Given the description of an element on the screen output the (x, y) to click on. 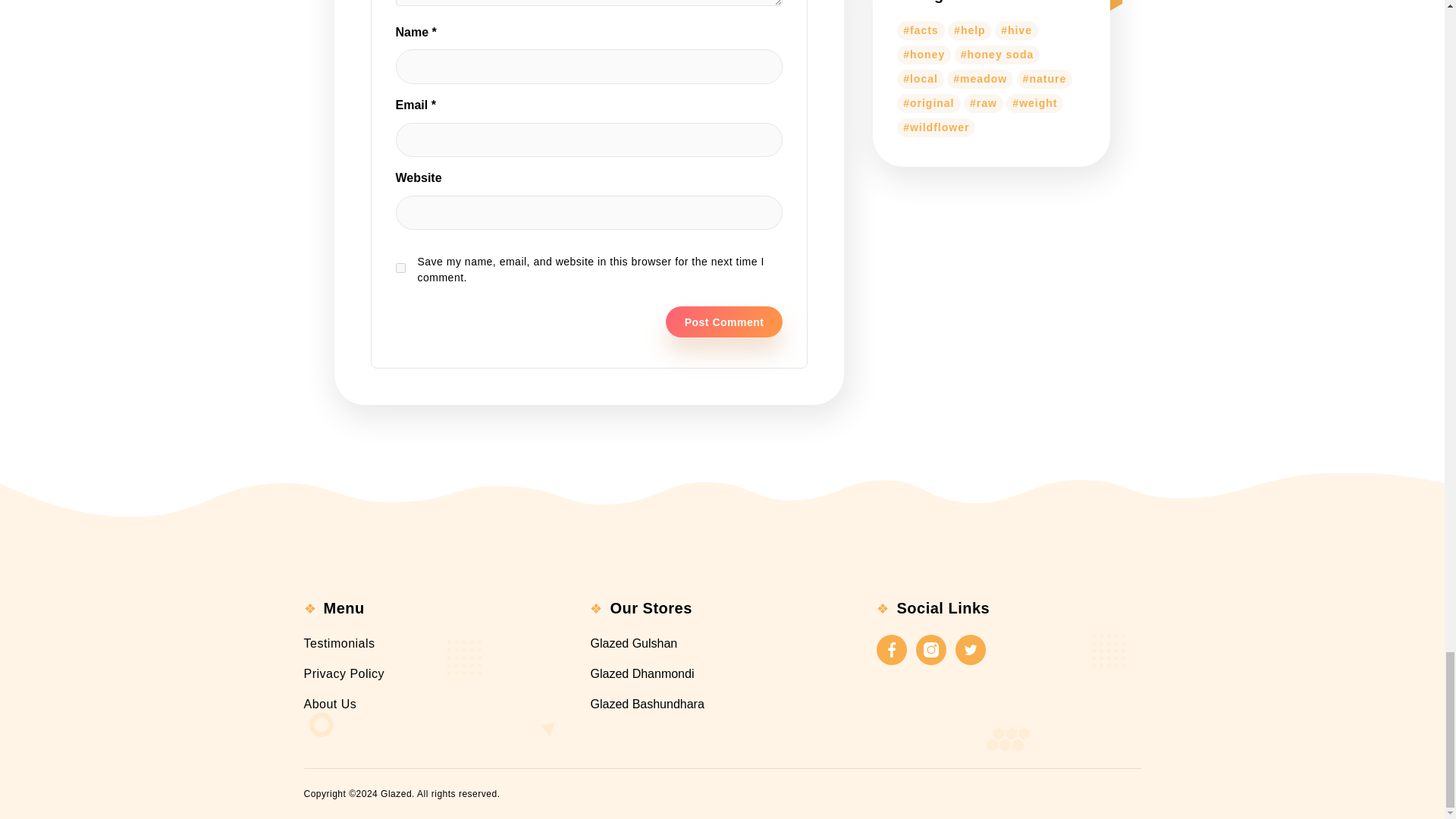
Post Comment (724, 322)
yes (401, 267)
Post Comment (724, 322)
